Given the description of an element on the screen output the (x, y) to click on. 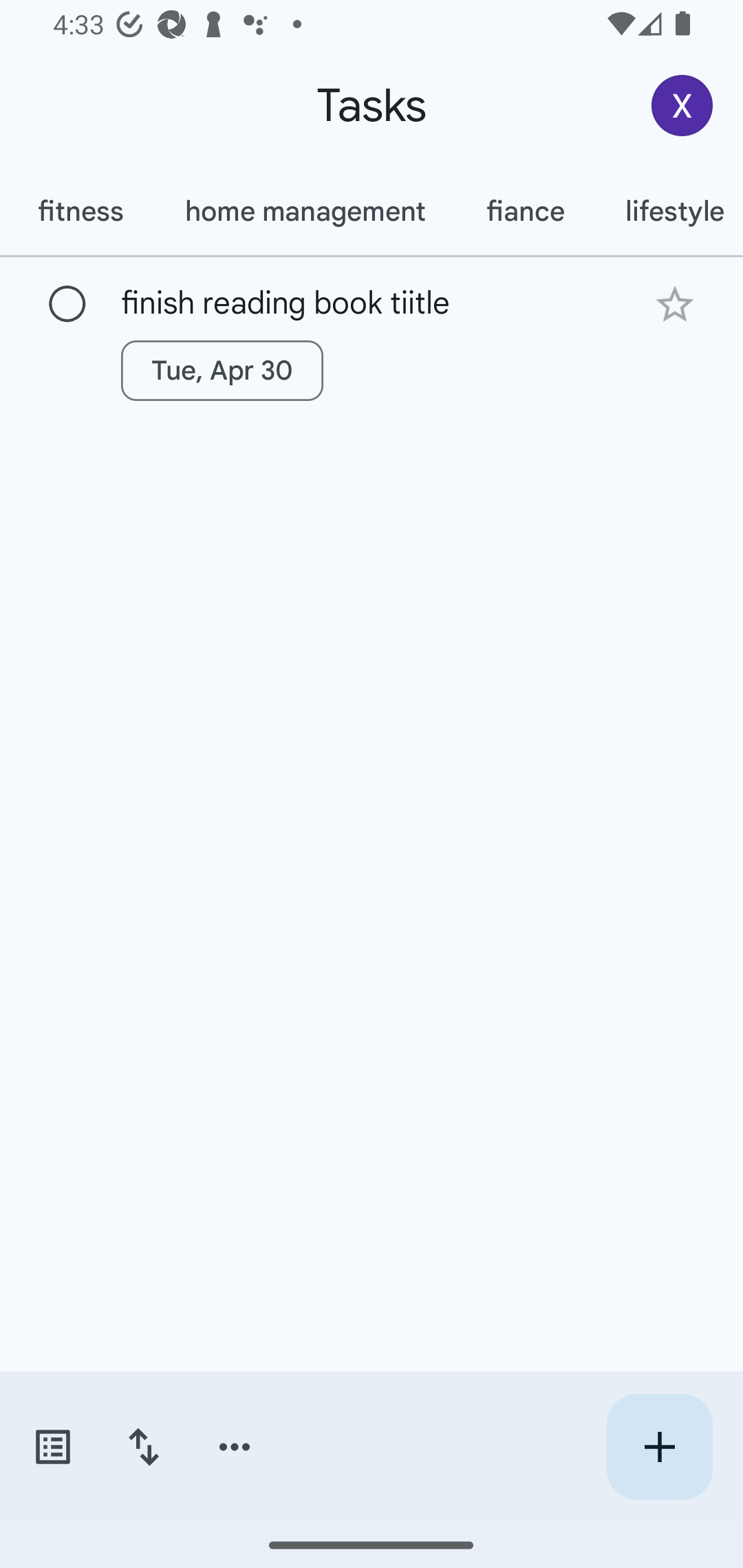
fitness (79, 211)
home management (304, 211)
fiance (524, 211)
lifestyle (668, 211)
Add star (674, 303)
Mark as complete (67, 304)
Tue, Apr 30 (222, 369)
Switch task lists (52, 1447)
Create new task (659, 1446)
Change sort order (143, 1446)
More options (234, 1446)
